Given the description of an element on the screen output the (x, y) to click on. 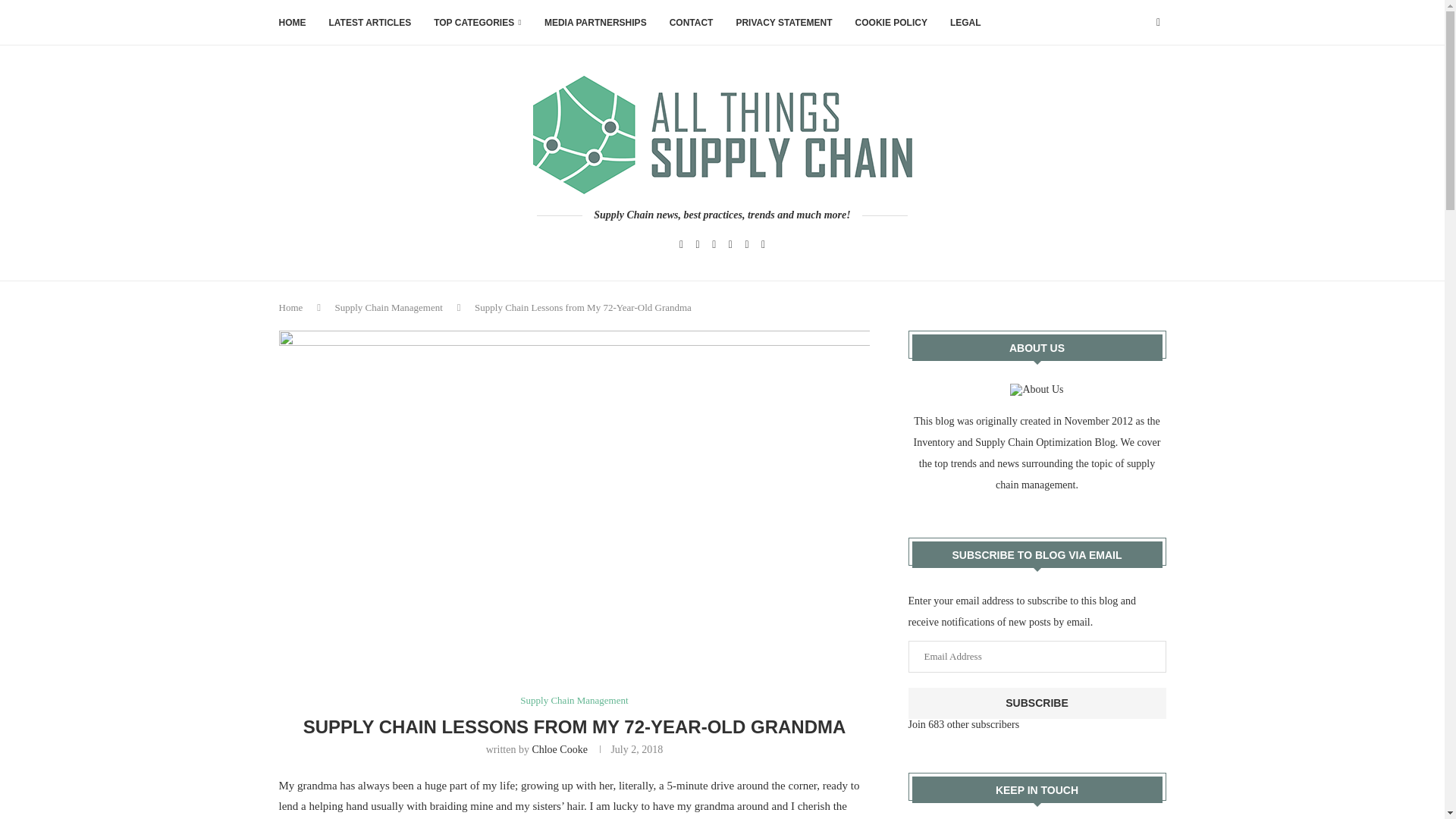
TOP CATEGORIES (477, 22)
LATEST ARTICLES (370, 22)
Home (290, 307)
MEDIA PARTNERSHIPS (595, 22)
Supply Chain Management (388, 307)
Chloe Cooke (559, 749)
Supply Chain Management (573, 700)
PRIVACY STATEMENT (783, 22)
CONTACT (691, 22)
COOKIE POLICY (891, 22)
